Given the description of an element on the screen output the (x, y) to click on. 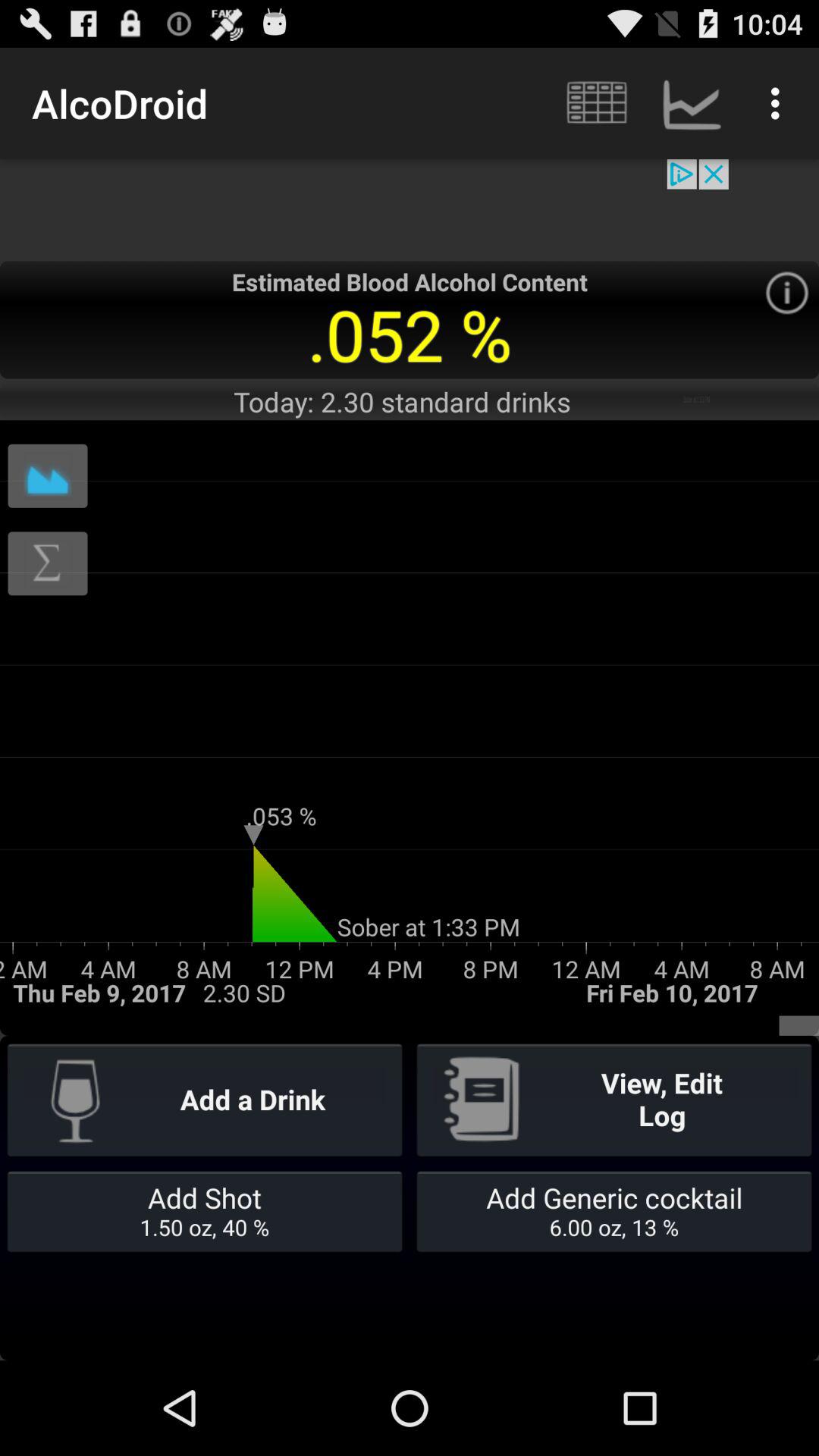
log content (47, 563)
